Given the description of an element on the screen output the (x, y) to click on. 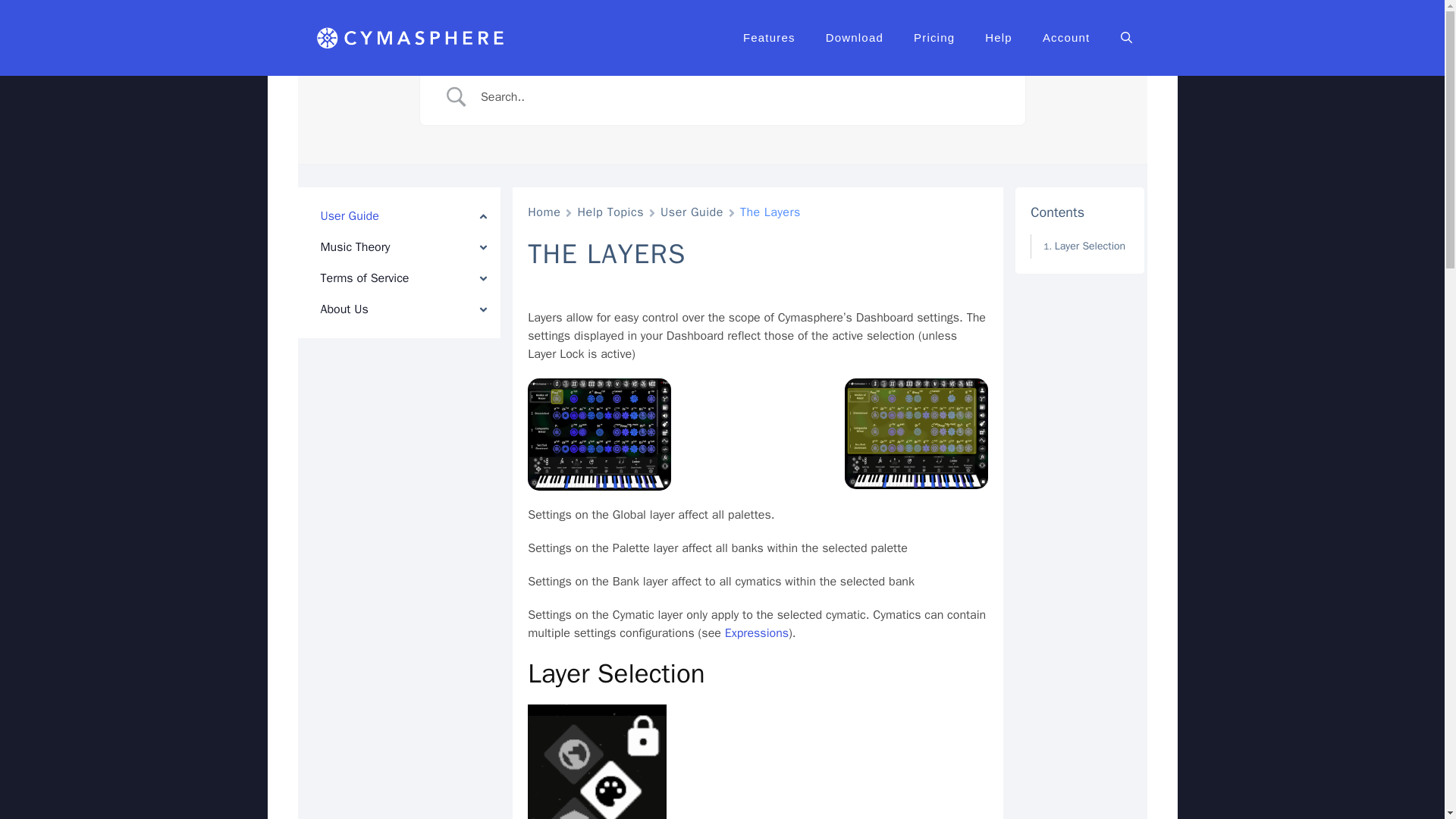
Help Topics (609, 212)
Help Topics (609, 212)
Main-UI-Palette-1024x787 (916, 433)
Layer-Selector-183x300 (596, 761)
Pricing (933, 37)
Download (854, 37)
Home (543, 212)
Help (998, 37)
Home (543, 212)
Features (769, 37)
